Given the description of an element on the screen output the (x, y) to click on. 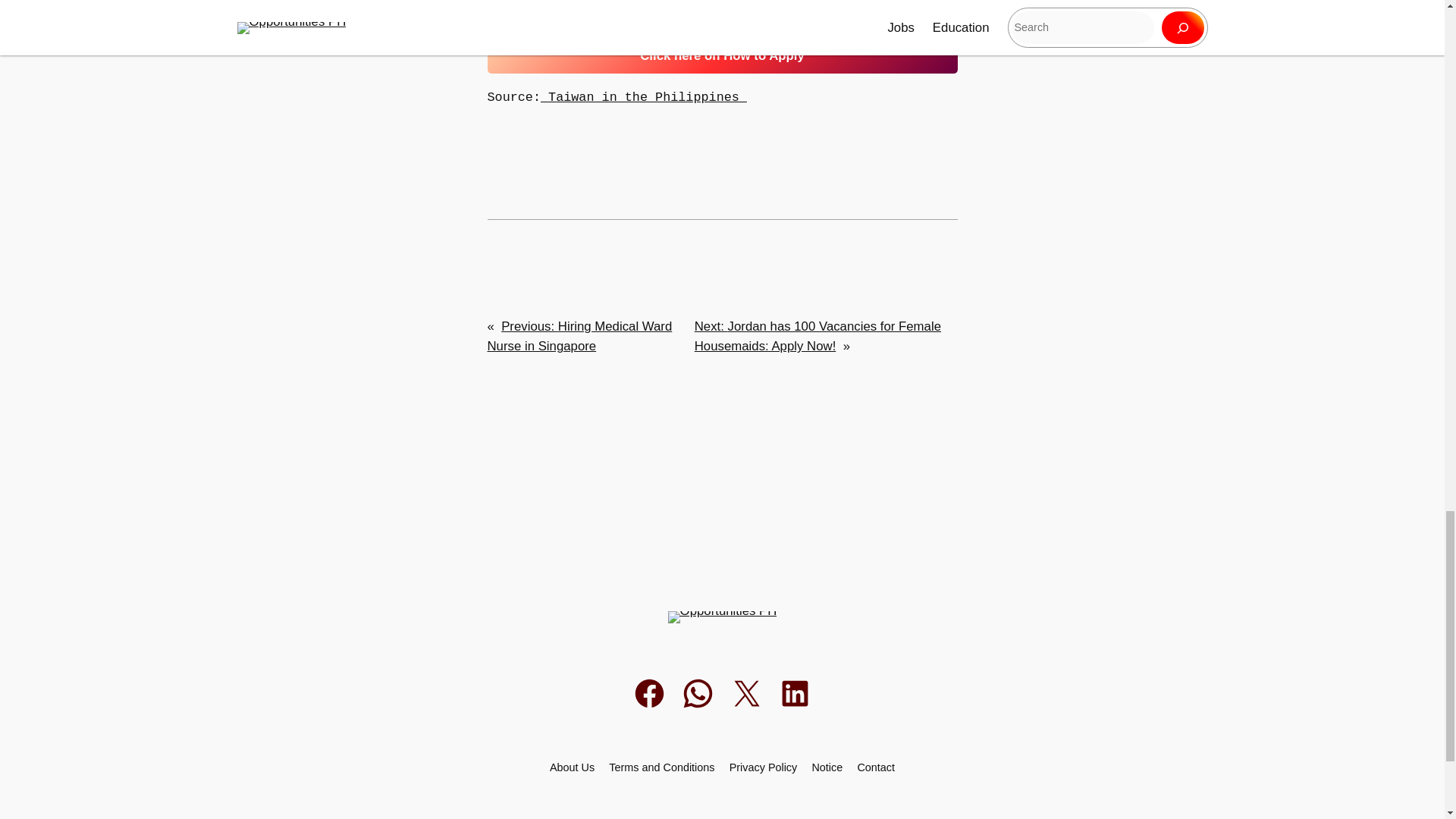
Taiwan in the Philippines  (647, 97)
Share on LinkedIn (794, 693)
Contact (876, 767)
Share on WhatsApp (697, 693)
Notice (826, 767)
Previous: Hiring Medical Ward Nurse in Singapore (578, 335)
Privacy Policy (763, 767)
Share on Facebook (648, 693)
Terms and Conditions (661, 767)
